Given the description of an element on the screen output the (x, y) to click on. 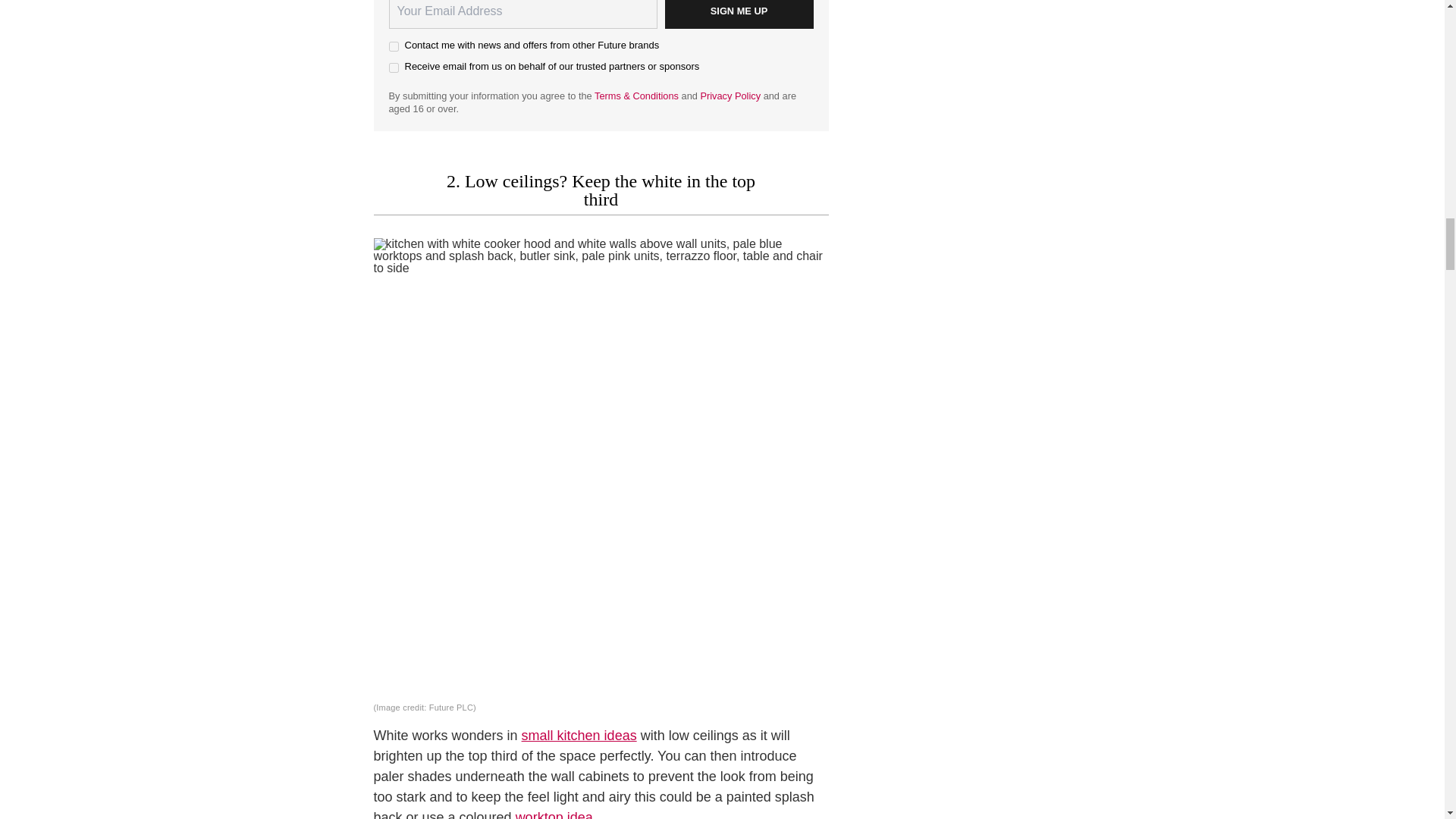
on (392, 67)
on (392, 46)
Sign me up (737, 14)
